Given the description of an element on the screen output the (x, y) to click on. 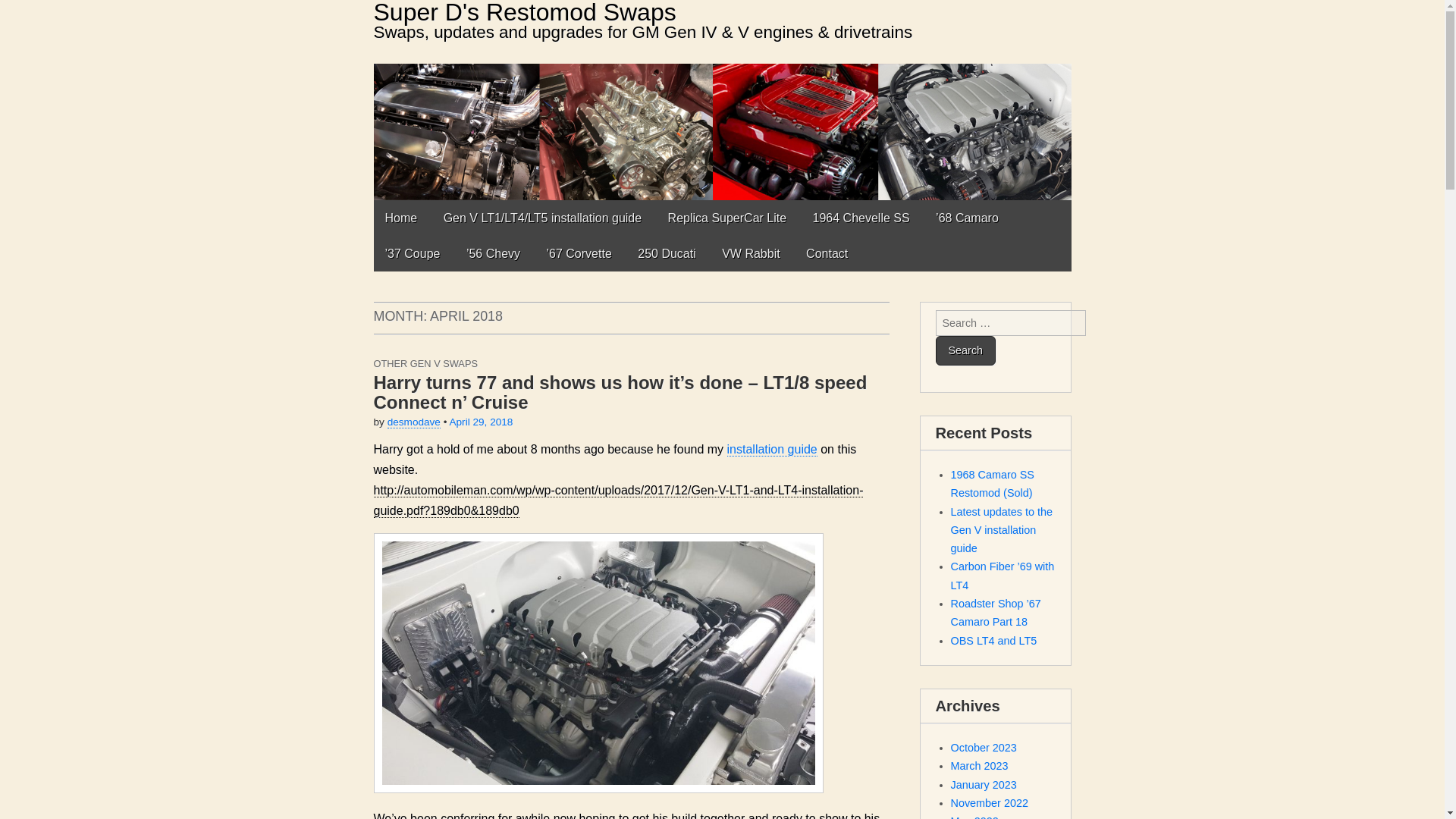
Latest updates to the Gen V installation guide (1001, 530)
Replica SuperCar Lite (726, 217)
Contact (826, 253)
1964 Chevelle SS (861, 217)
Search (965, 350)
Super D's Restomod Swaps (523, 12)
Super D's Restomod Swaps (523, 12)
Search (965, 350)
250 Ducati (666, 253)
OTHER GEN V SWAPS (424, 363)
Search (965, 350)
installation guide (771, 449)
Home (400, 217)
